Given the description of an element on the screen output the (x, y) to click on. 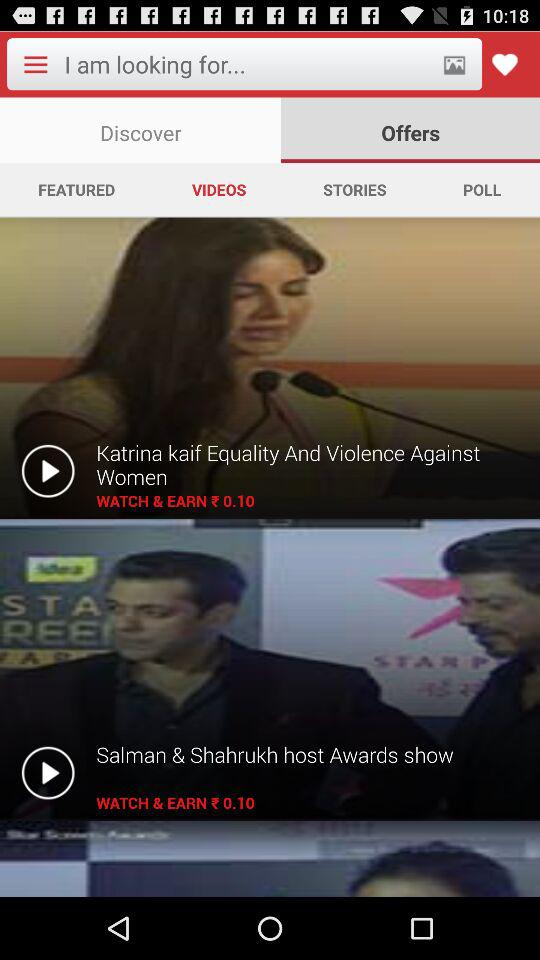
open icon next to discover icon (410, 130)
